Given the description of an element on the screen output the (x, y) to click on. 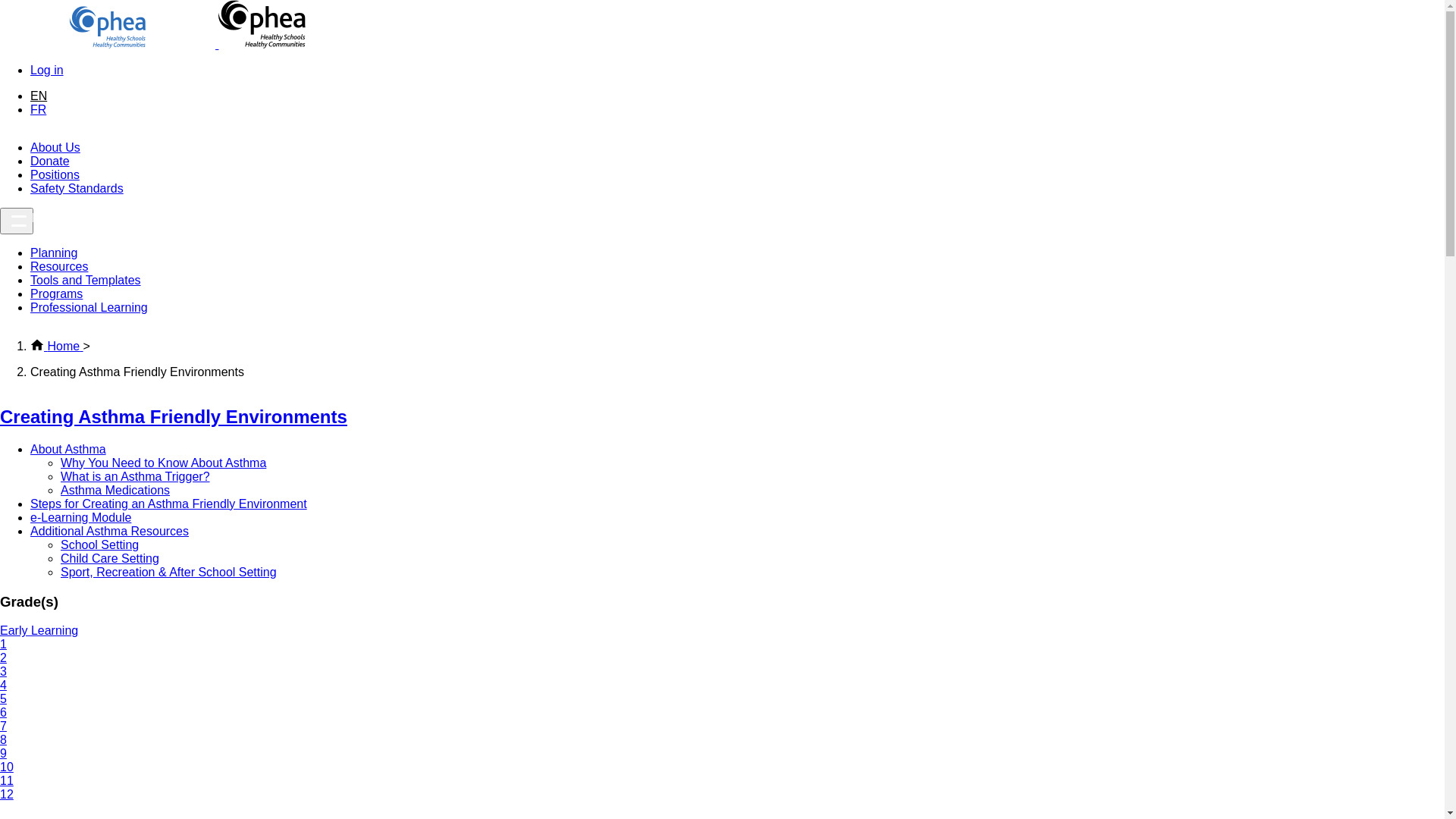
Steps for Creating an Asthma Friendly Environment Element type: text (168, 503)
2 Element type: text (3, 657)
Resources Element type: text (58, 266)
3 Element type: text (3, 671)
School Setting Element type: text (99, 544)
11 Element type: text (6, 780)
5 Element type: text (3, 698)
Planning Element type: text (53, 252)
Safety Standards Element type: text (76, 188)
9 Element type: text (3, 752)
Asthma Medications Element type: text (114, 489)
7 Element type: text (3, 725)
Home Icon Created with Sketch. Home Element type: text (56, 345)
Log in Element type: text (46, 69)
Skip to main content Element type: text (0, 0)
Donate Element type: text (49, 160)
About Us Element type: text (55, 147)
Additional Asthma Resources Element type: text (109, 530)
4 Element type: text (3, 684)
10 Element type: text (6, 766)
Programs Element type: text (56, 293)
About Asthma Element type: text (68, 448)
Positions Element type: text (54, 174)
6 Element type: text (3, 712)
Sport, Recreation & After School Setting Element type: text (168, 571)
MENU Element type: text (16, 220)
EN Element type: text (38, 95)
Creating Asthma Friendly Environments Element type: text (173, 416)
8 Element type: text (3, 739)
Early Learning Element type: text (39, 630)
Tools and Templates Element type: text (85, 279)
12 Element type: text (6, 793)
What is an Asthma Trigger? Element type: text (135, 476)
FR Element type: text (38, 109)
Home Element type: hover (152, 43)
Why You Need to Know About Asthma Element type: text (163, 462)
1 Element type: text (3, 643)
e-Learning Module Element type: text (80, 517)
Professional Learning Element type: text (88, 307)
Child Care Setting Element type: text (109, 558)
